Given the description of an element on the screen output the (x, y) to click on. 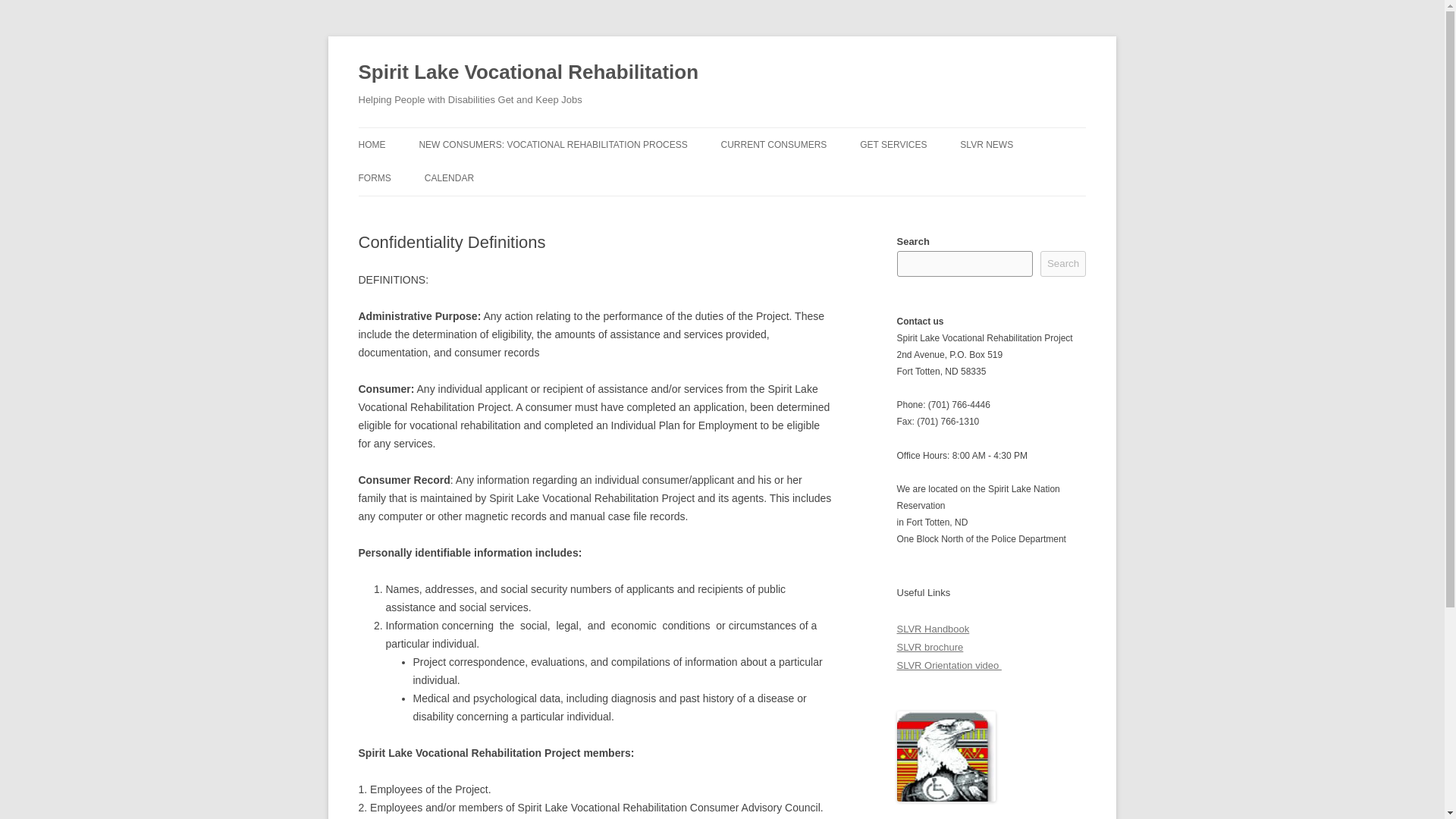
CALENDAR (449, 177)
Search (1063, 263)
CURRENT CONSUMERS (773, 144)
SLVR NEWS (986, 144)
Spirit Lake Vocational Rehabilitation (528, 72)
GET SERVICES (893, 144)
SLVR brochure (929, 646)
FORMS (374, 177)
